Given the description of an element on the screen output the (x, y) to click on. 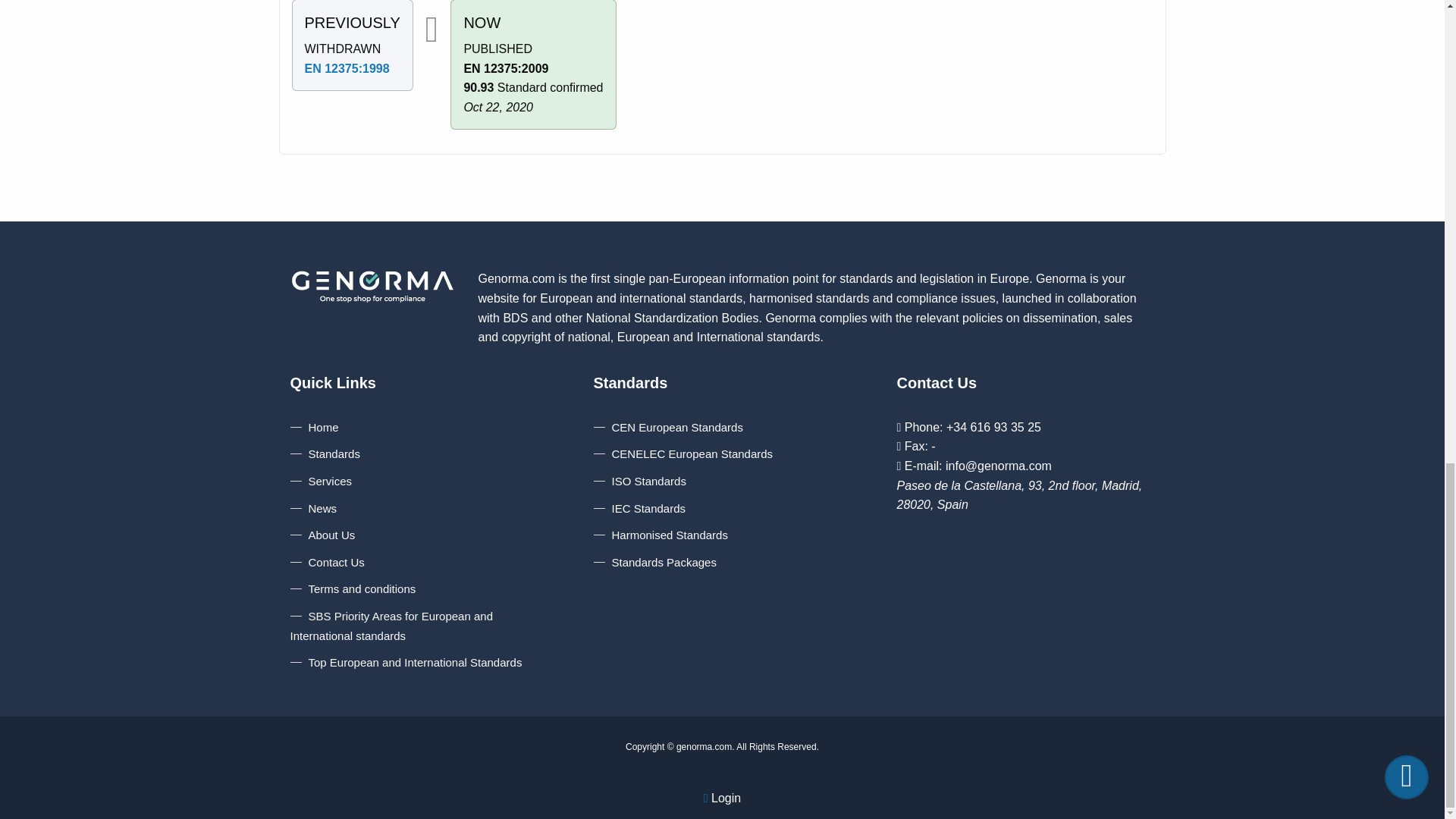
Standards (324, 453)
EN 12375:1998 (347, 68)
Home (314, 427)
